Given the description of an element on the screen output the (x, y) to click on. 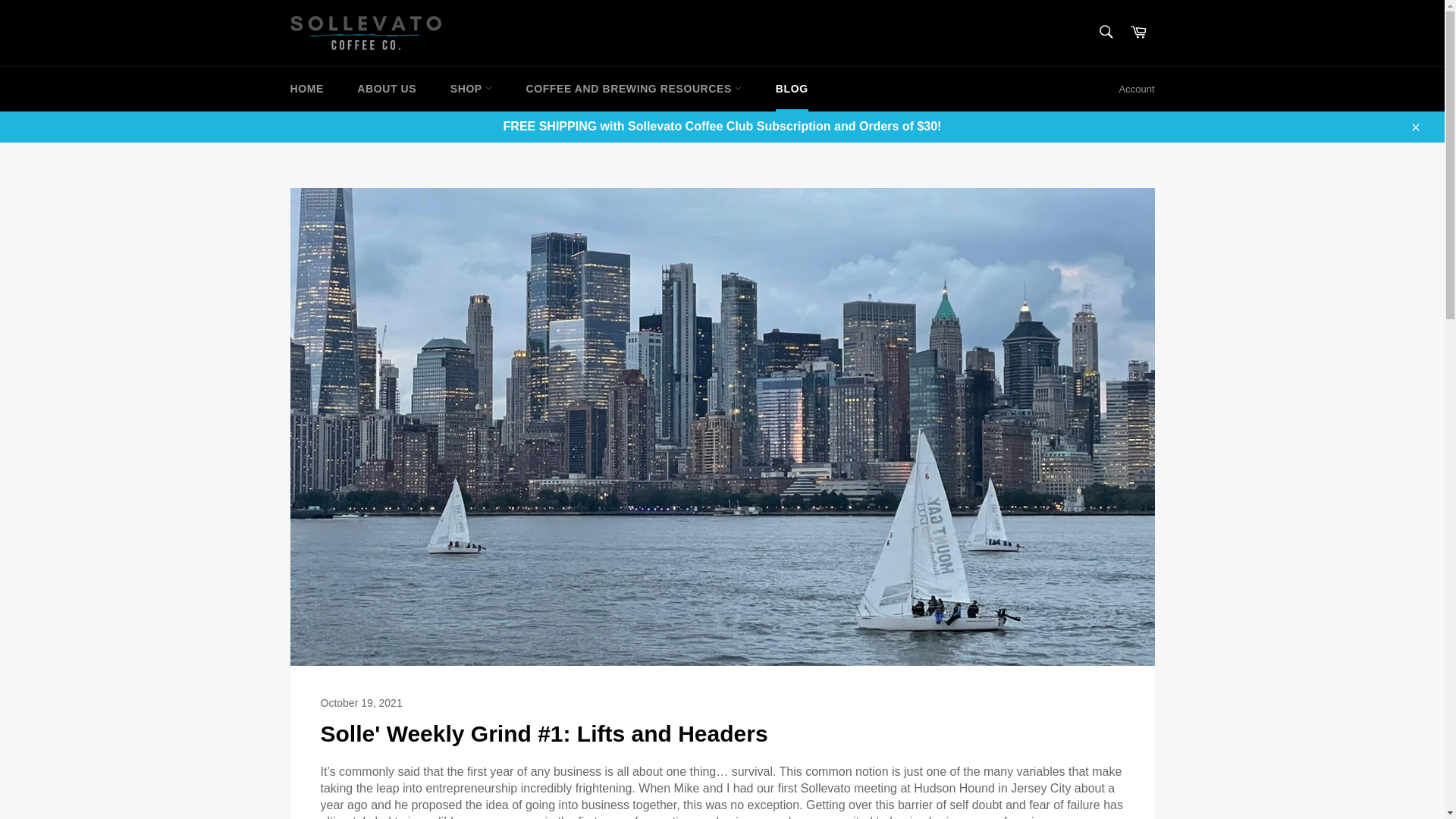
COFFEE AND BREWING RESOURCES (634, 88)
BLOG (792, 88)
Cart (1138, 32)
HOME (306, 88)
Search (1104, 31)
ABOUT US (386, 88)
SHOP (470, 88)
